Given the description of an element on the screen output the (x, y) to click on. 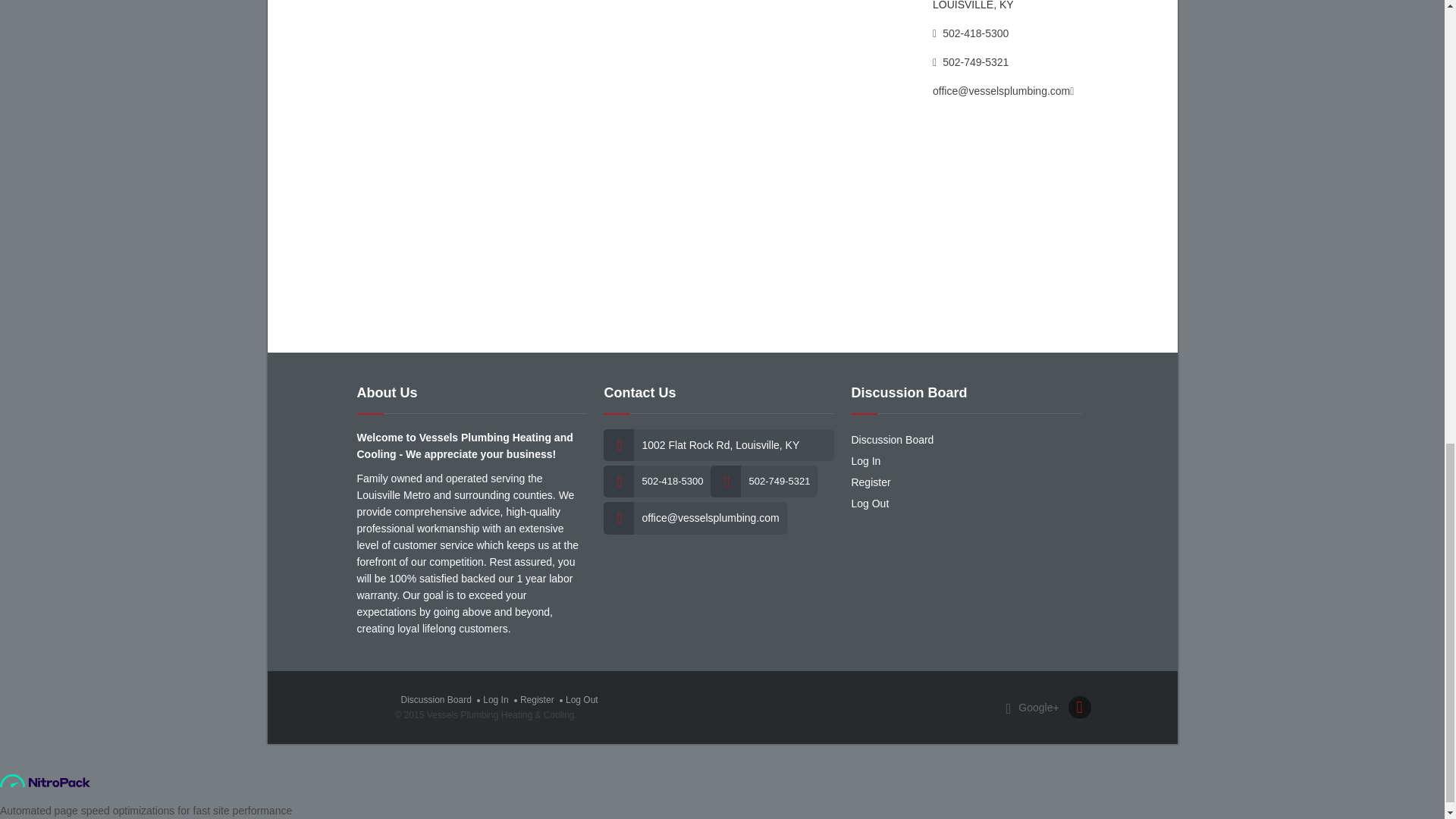
Discussion Board (891, 439)
